Given the description of an element on the screen output the (x, y) to click on. 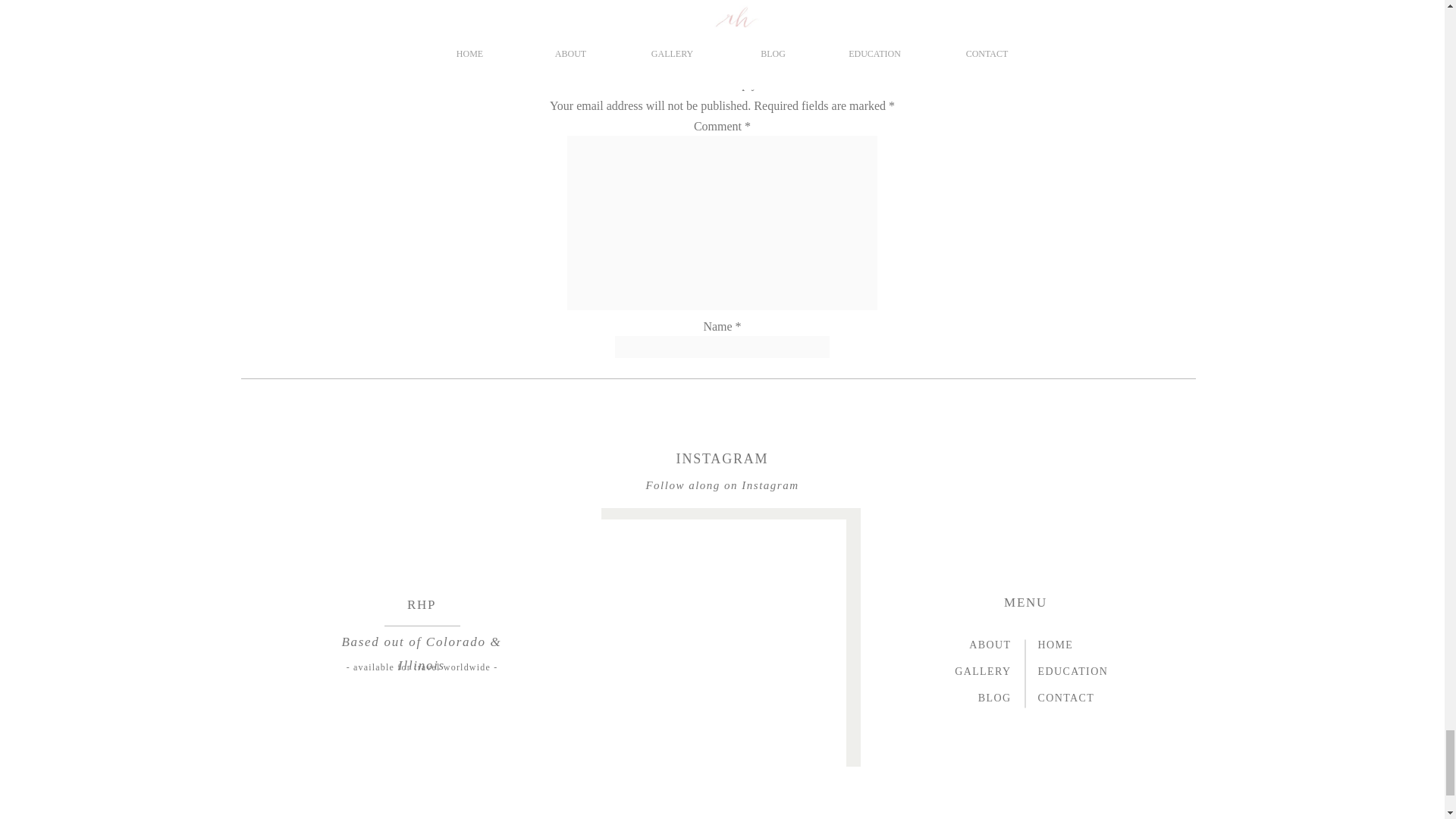
ABOUT (974, 647)
INSTAGRAM (721, 460)
HOME (1074, 647)
yes (721, 447)
GALLERY (974, 673)
EDUCATION (1074, 673)
CONTACT (1074, 699)
Post Comment (722, 504)
Post Comment (722, 504)
BLOG (974, 699)
